Given the description of an element on the screen output the (x, y) to click on. 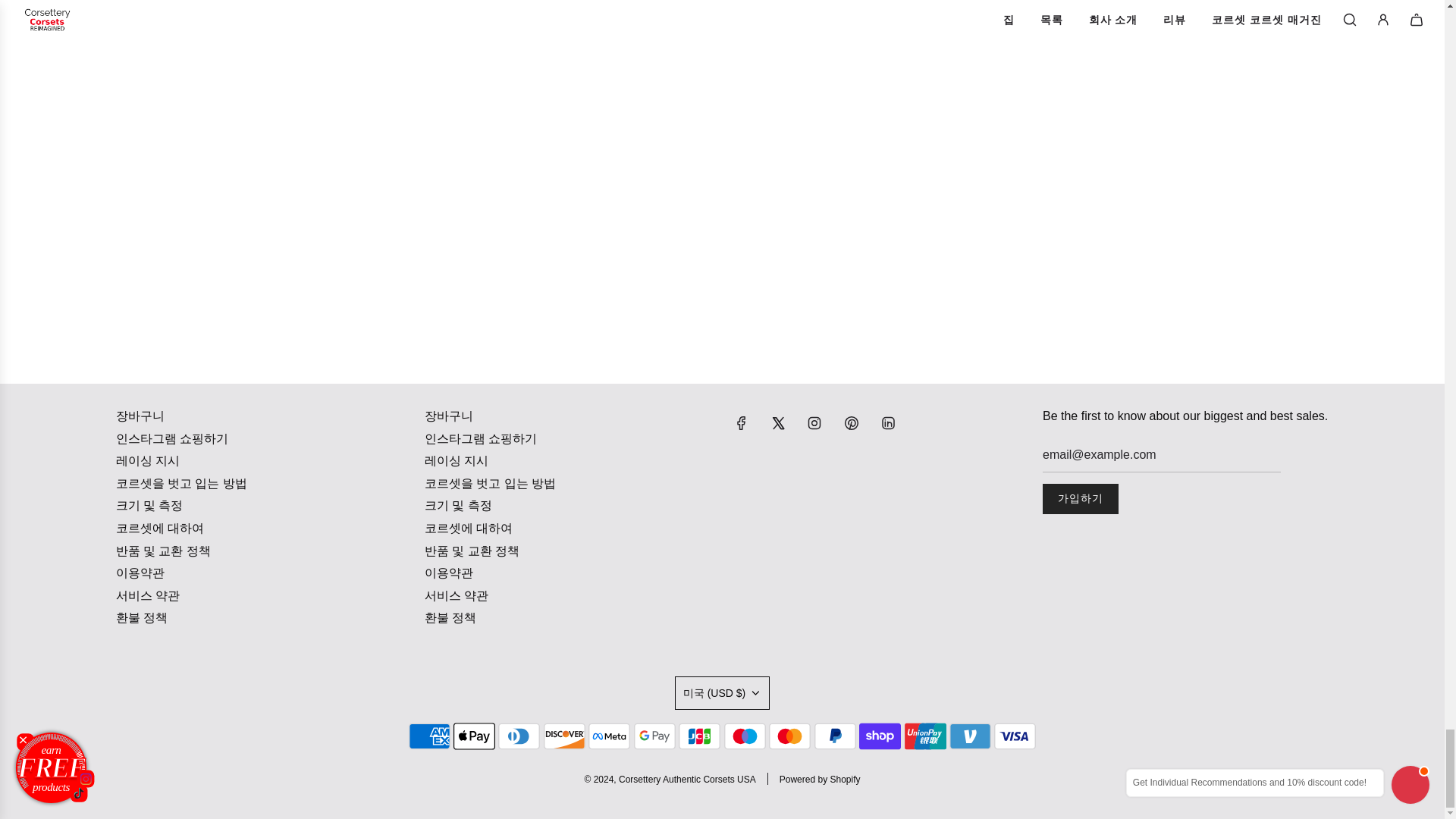
American Express (429, 736)
